Given the description of an element on the screen output the (x, y) to click on. 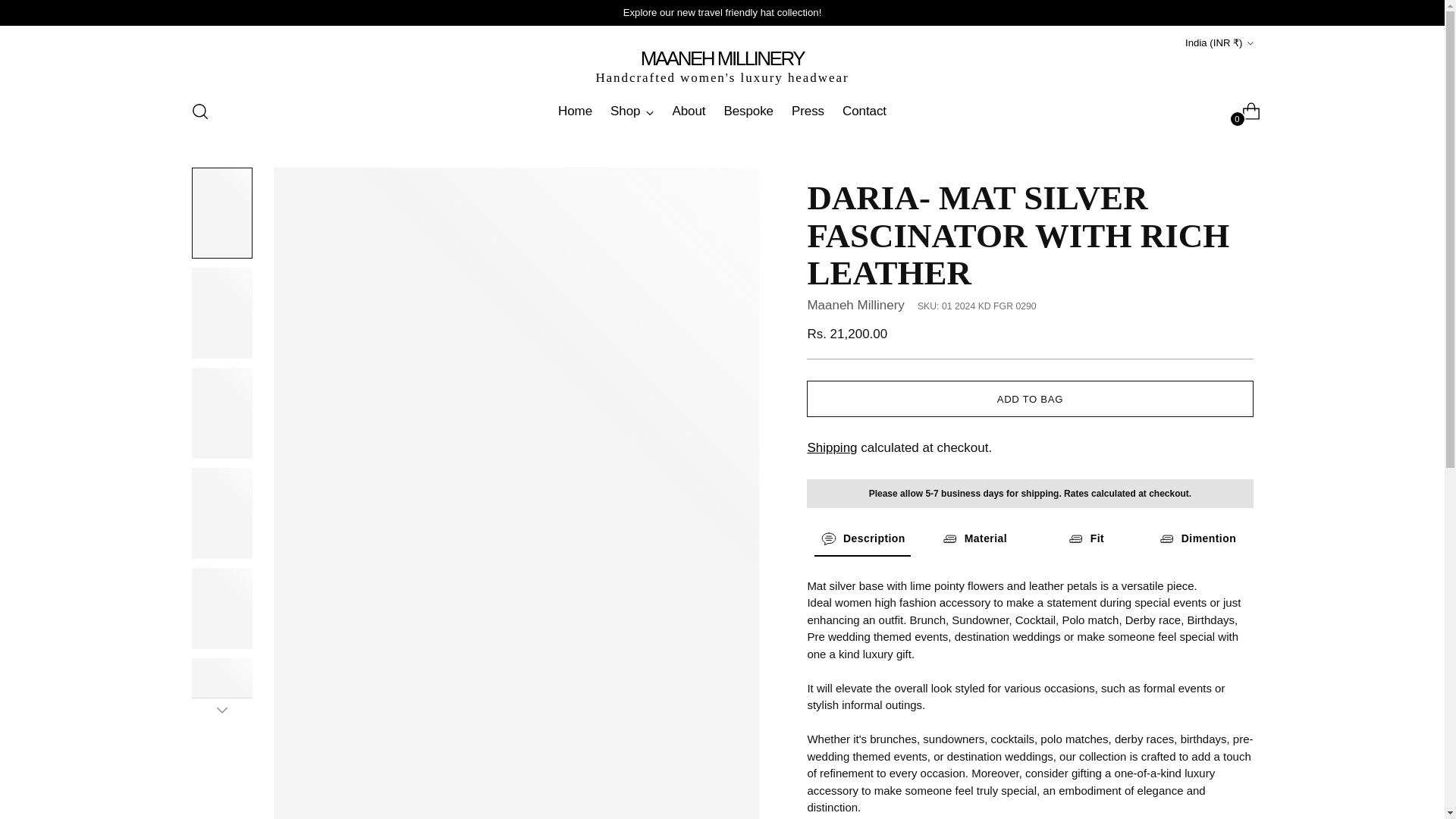
Down (721, 65)
Home (220, 709)
Maaneh Millinery (721, 111)
Shop (574, 111)
